Given the description of an element on the screen output the (x, y) to click on. 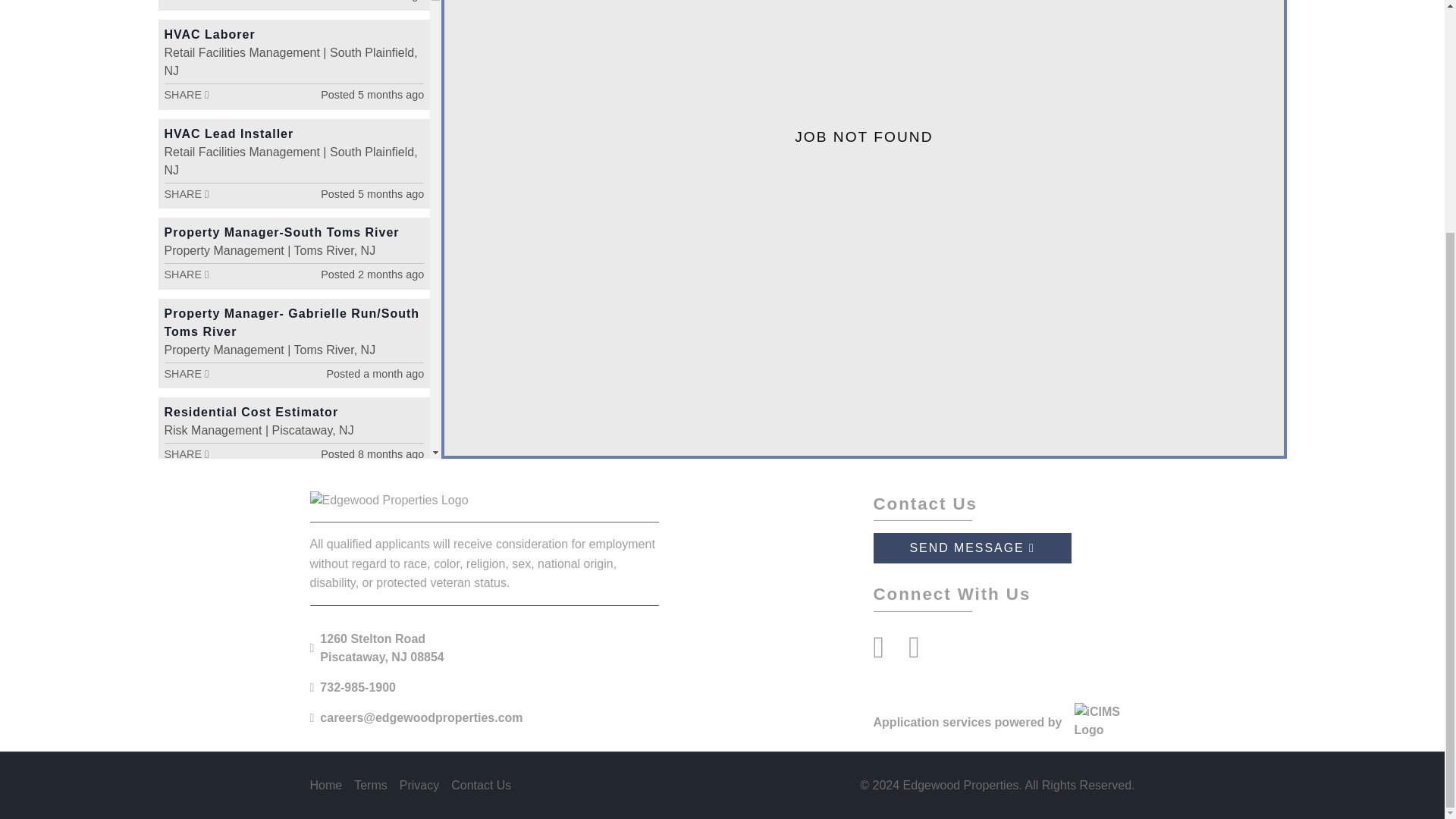
Residential Cost Estimator (250, 411)
Share Job Link (185, 733)
Code Compliance Associate (254, 492)
SHARE (185, 373)
Property Manager-South Toms River (280, 232)
Share Job Link (185, 373)
Exterior Technician (226, 771)
SHARE (185, 535)
SHARE (185, 193)
Housekeeper (205, 672)
Share Job Link (185, 634)
SHARE (185, 634)
Share Job Link (185, 535)
HVAC Lead Installer (228, 133)
Plumbing Technician (231, 574)
